Given the description of an element on the screen output the (x, y) to click on. 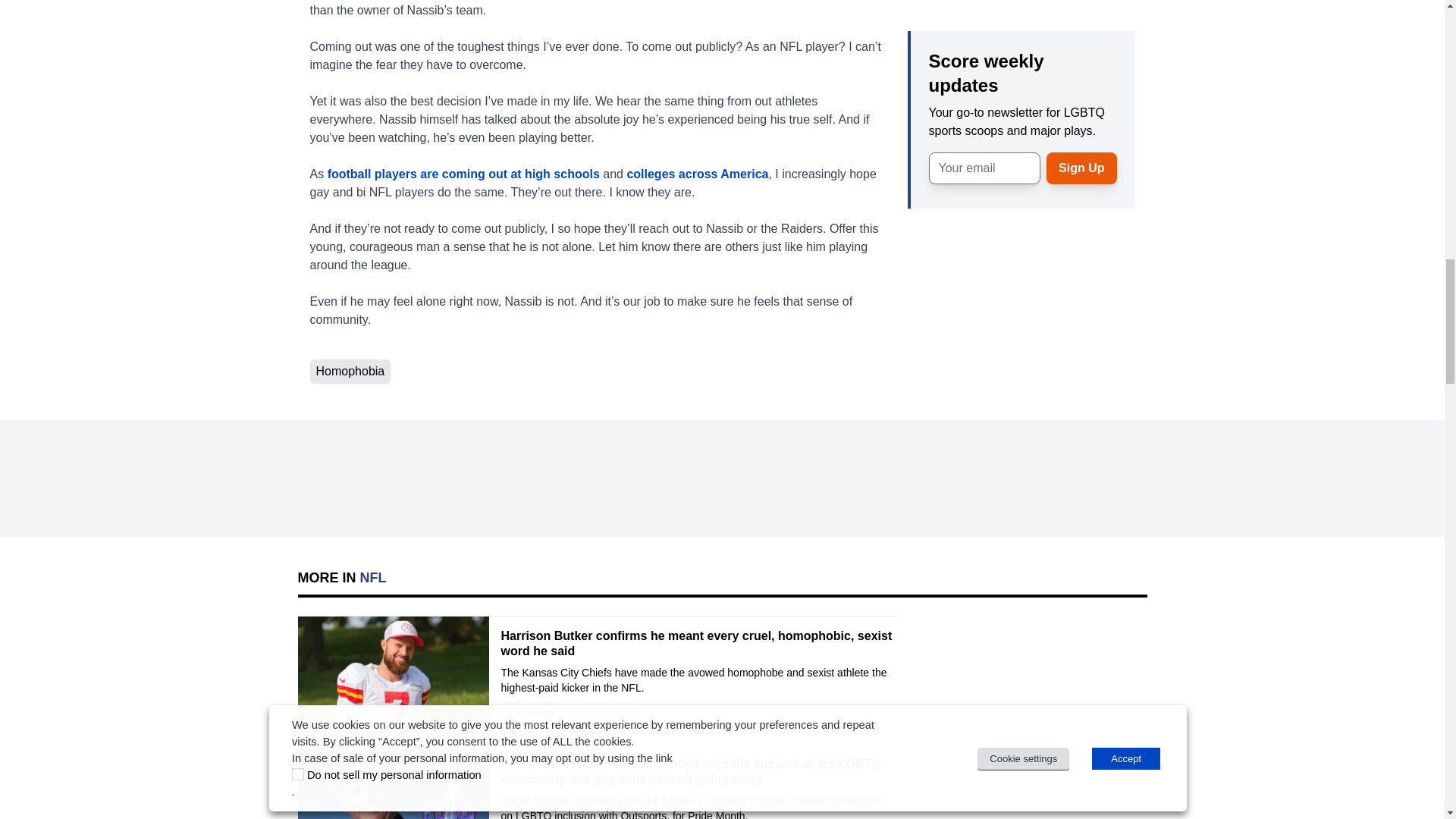
Homophobia (349, 371)
football players are coming out at high schools (463, 173)
colleges across America (697, 173)
